Given the description of an element on the screen output the (x, y) to click on. 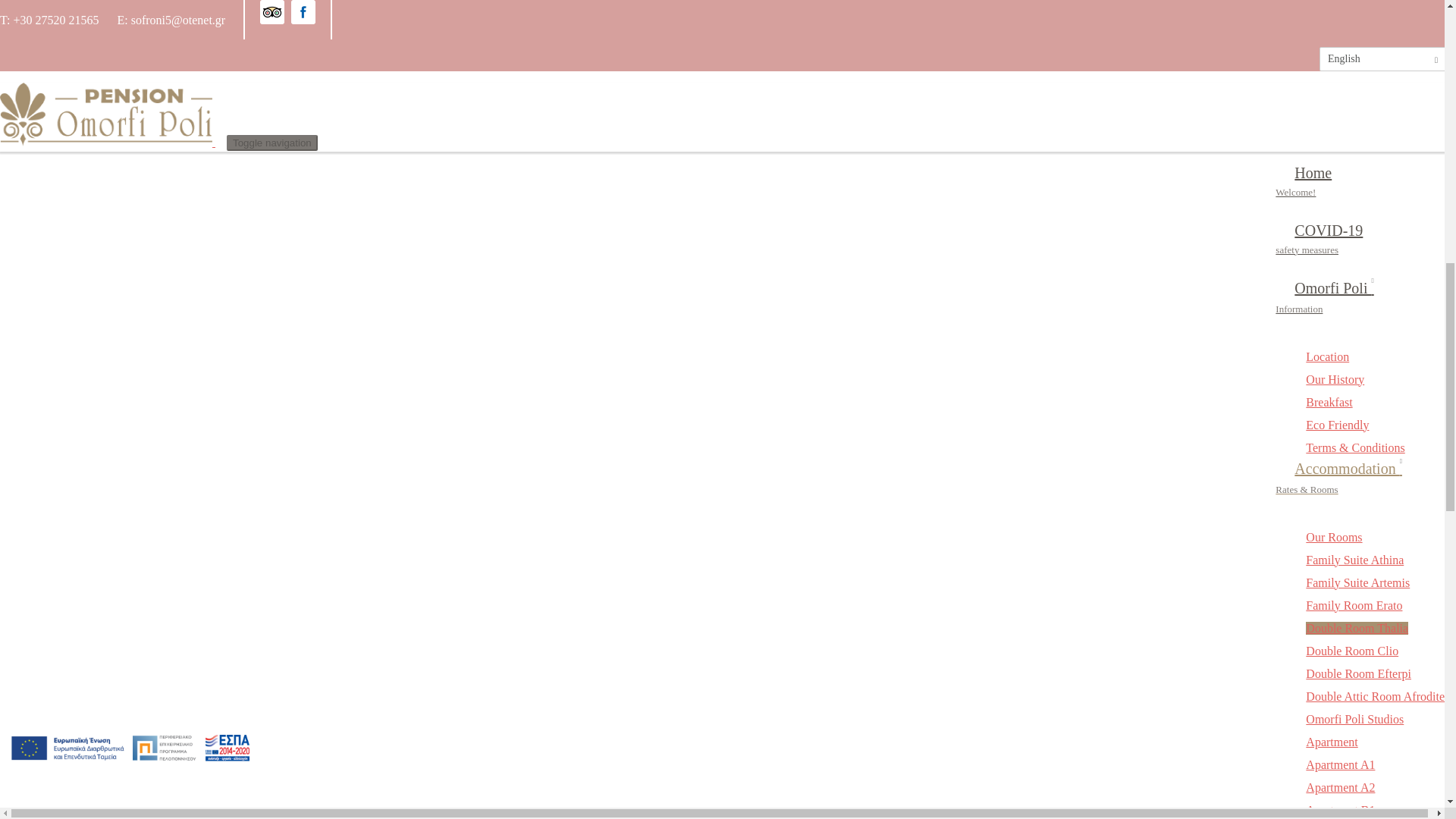
Nights (94, 255)
Discover Nafplio (1348, 103)
Museums (1329, 216)
Bourtzi - Palamidi (1350, 125)
Apartment B2 (1340, 13)
Check Availability (77, 346)
Archaeological Sites (1356, 171)
Beaches (1325, 194)
